Given the description of an element on the screen output the (x, y) to click on. 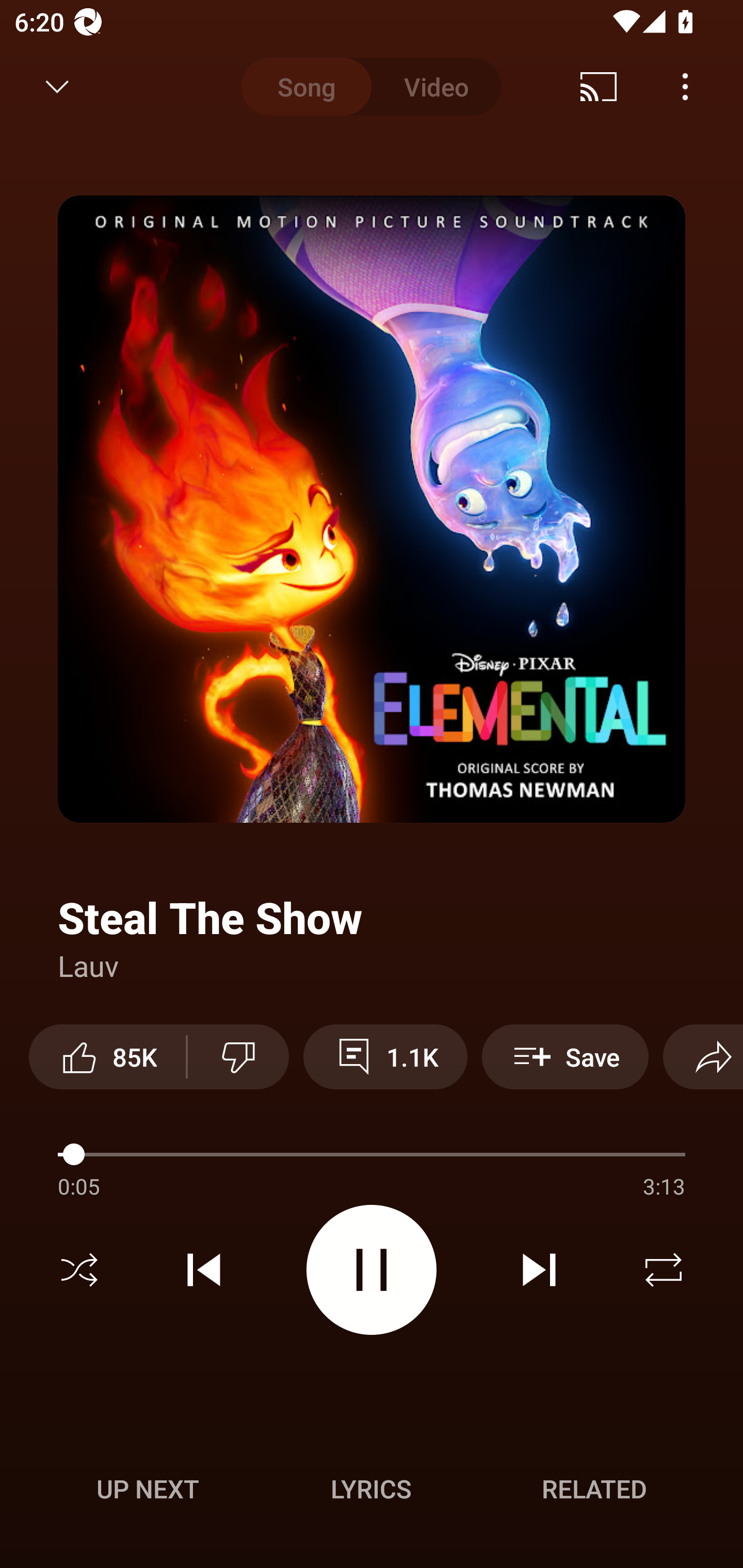
Minimize (57, 86)
Cast. Disconnected (598, 86)
Menu (684, 86)
85K like this video along with 85,777 other people (106, 1056)
Dislike (238, 1056)
1.1K View 1,180 comments (385, 1056)
Save Save to playlist (565, 1056)
Share (702, 1056)
Pause video (371, 1269)
Shuffle off (79, 1269)
Previous track (203, 1269)
Next track (538, 1269)
Repeat off (663, 1269)
Up next UP NEXT Lyrics LYRICS Related RELATED (371, 1491)
Lyrics LYRICS (370, 1488)
Related RELATED (594, 1488)
